Given the description of an element on the screen output the (x, y) to click on. 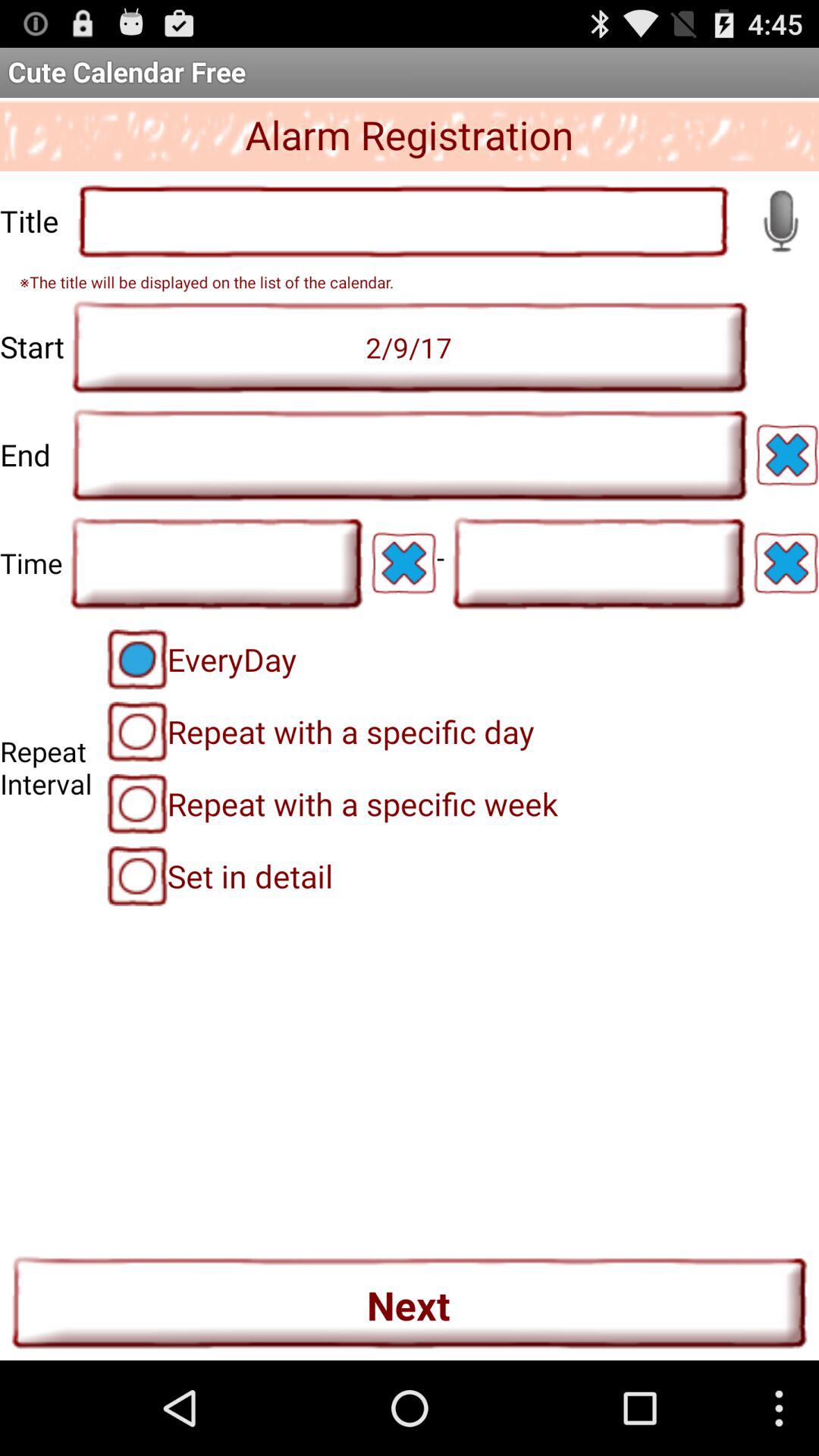
launch item above next item (220, 876)
